Given the description of an element on the screen output the (x, y) to click on. 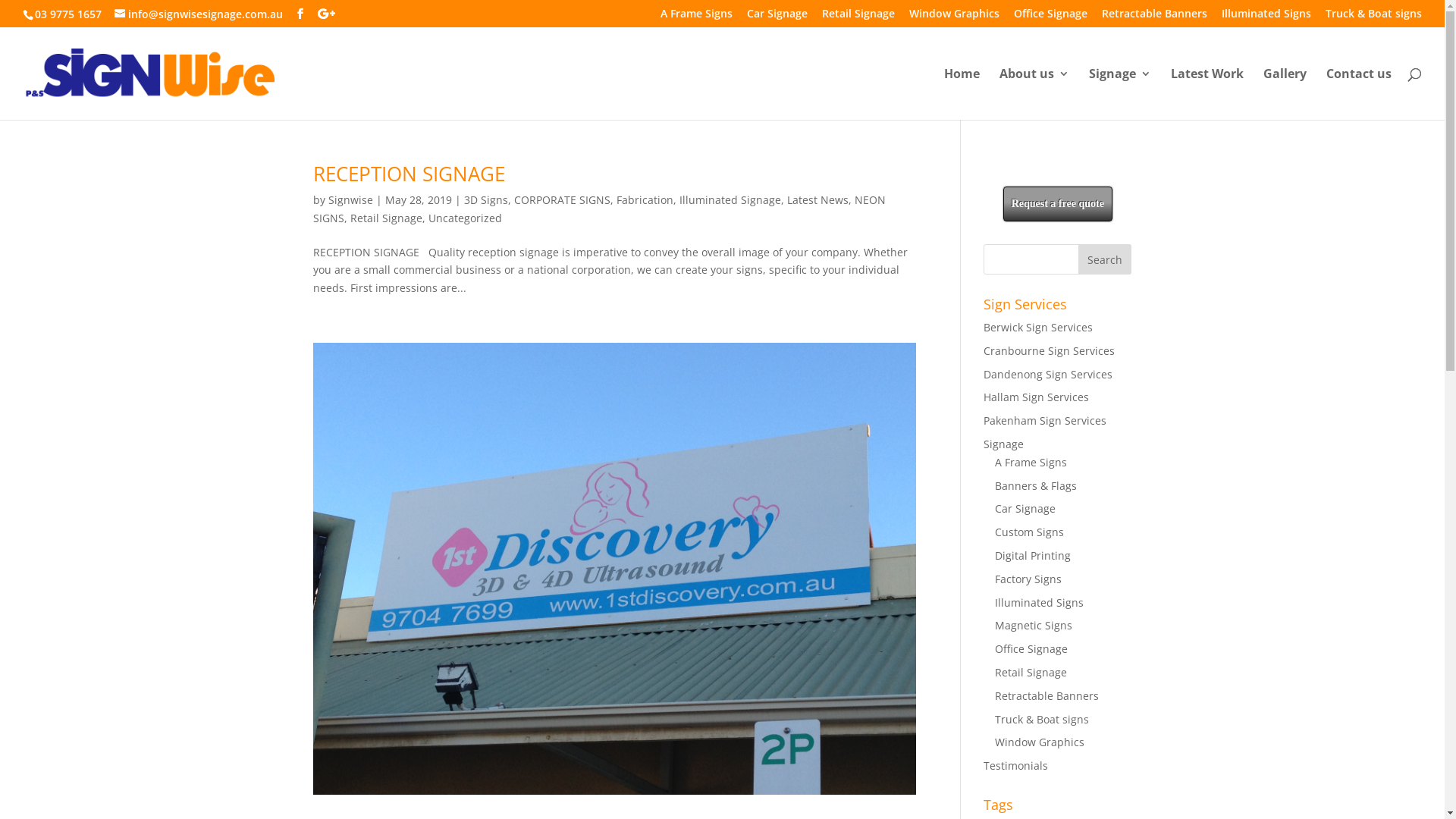
Window Graphics Element type: text (954, 16)
Digital Printing Element type: text (1032, 555)
Retractable Banners Element type: text (1154, 16)
NEON SIGNS Element type: text (598, 208)
CORPORATE SIGNS Element type: text (562, 199)
Illuminated Signs Element type: text (1038, 602)
Home Element type: text (961, 93)
Truck & Boat signs Element type: text (1373, 16)
3D Signs Element type: text (486, 199)
Search Element type: text (1104, 259)
Latest News Element type: text (817, 199)
Window Graphics Element type: text (1039, 741)
Banners & Flags Element type: text (1035, 485)
Magnetic Signs Element type: text (1033, 625)
Office Signage Element type: text (1030, 648)
A Frame Signs Element type: text (696, 16)
Dandenong Sign Services Element type: text (1047, 374)
Request a free quote Element type: text (1057, 203)
Gallery Element type: text (1284, 93)
Illuminated Signs Element type: text (1266, 16)
Retractable Banners Element type: text (1046, 695)
Illuminated Signage Element type: text (730, 199)
Latest Work Element type: text (1206, 93)
About us Element type: text (1034, 93)
Signage Element type: text (1119, 93)
Office Signage Element type: text (1050, 16)
Berwick Sign Services Element type: text (1037, 327)
Cranbourne Sign Services Element type: text (1048, 350)
Retail Signage Element type: text (858, 16)
Factory Signs Element type: text (1027, 578)
Retail Signage Element type: text (386, 217)
info@signwisesignage.com.au Element type: text (198, 13)
Custom Signs Element type: text (1028, 531)
Hallam Sign Services Element type: text (1035, 396)
Contact us Element type: text (1358, 93)
RECEPTION SIGNAGE Element type: text (408, 173)
A Frame Signs Element type: text (1030, 462)
Uncategorized Element type: text (464, 217)
Fabrication Element type: text (643, 199)
Retail Signage Element type: text (1030, 672)
Pakenham Sign Services Element type: text (1044, 420)
Signage Element type: text (1003, 443)
Signwise Element type: text (349, 199)
Testimonials Element type: text (1015, 765)
Truck & Boat signs Element type: text (1041, 719)
Car Signage Element type: text (1024, 508)
Car Signage Element type: text (776, 16)
